Given the description of an element on the screen output the (x, y) to click on. 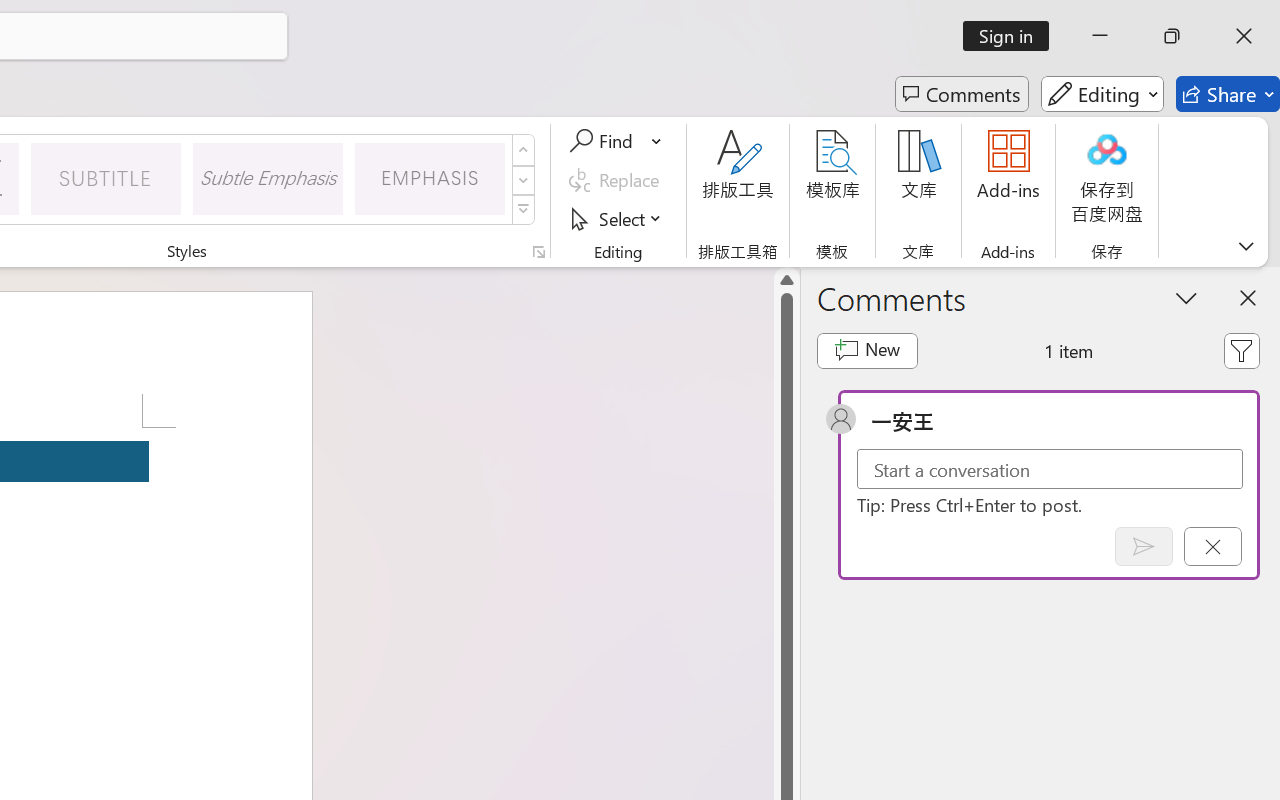
Line up (787, 279)
Filter (1241, 350)
